Given the description of an element on the screen output the (x, y) to click on. 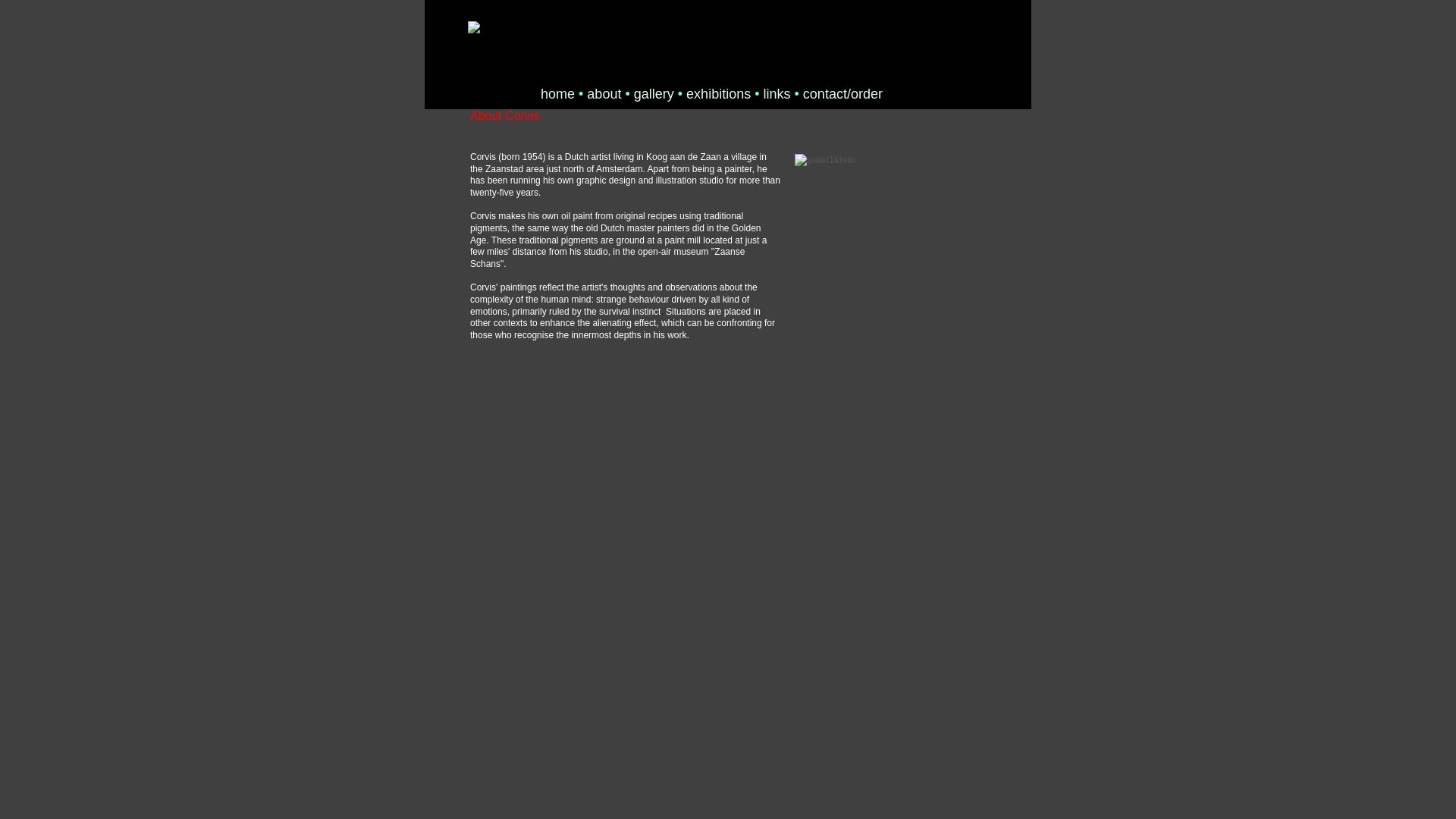
home (557, 95)
gallery (653, 95)
about (603, 93)
links (776, 93)
palet1klein (825, 159)
exhibitions (718, 93)
